Given the description of an element on the screen output the (x, y) to click on. 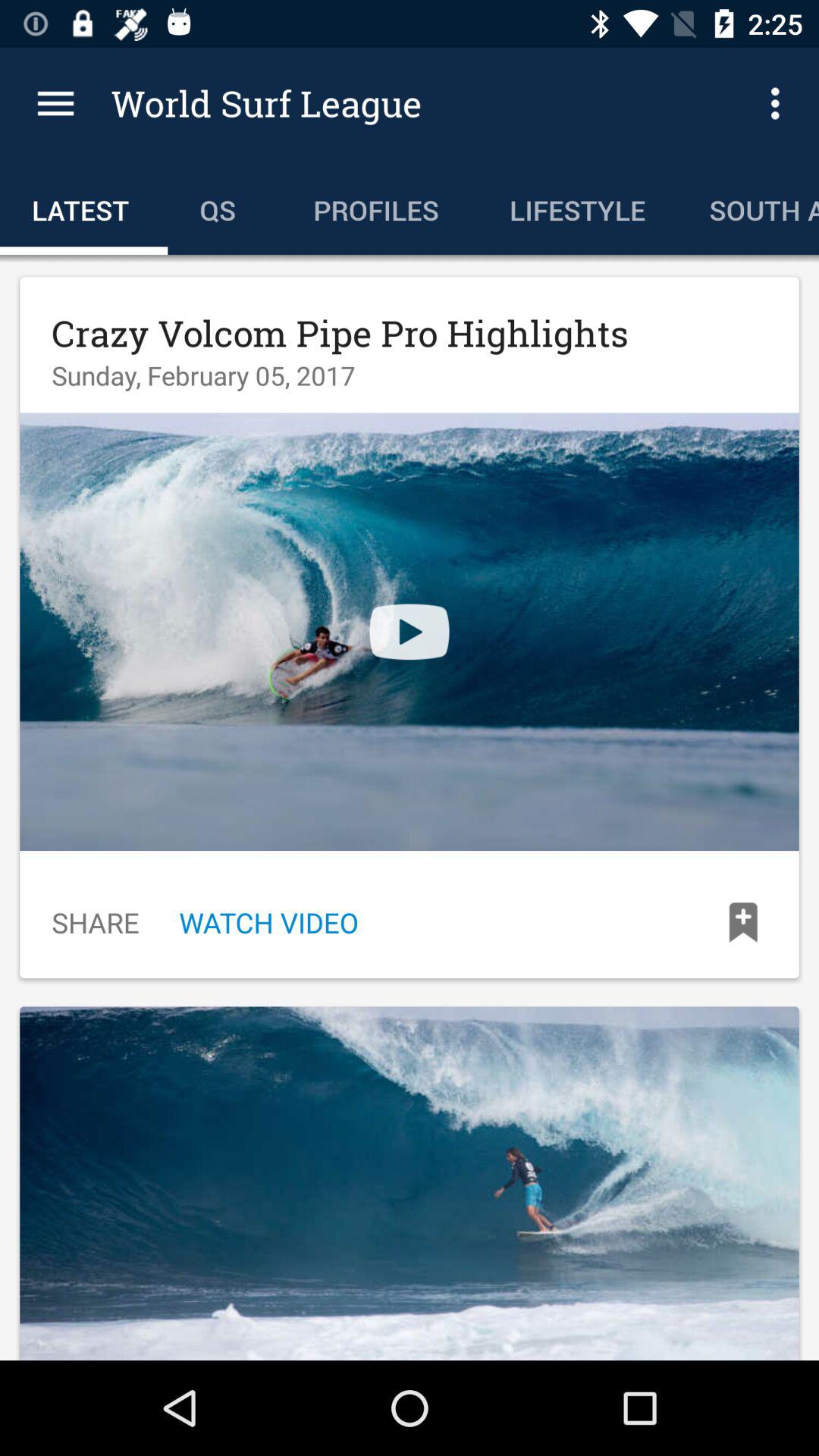
select the icon to the left of the south america icon (577, 206)
